Given the description of an element on the screen output the (x, y) to click on. 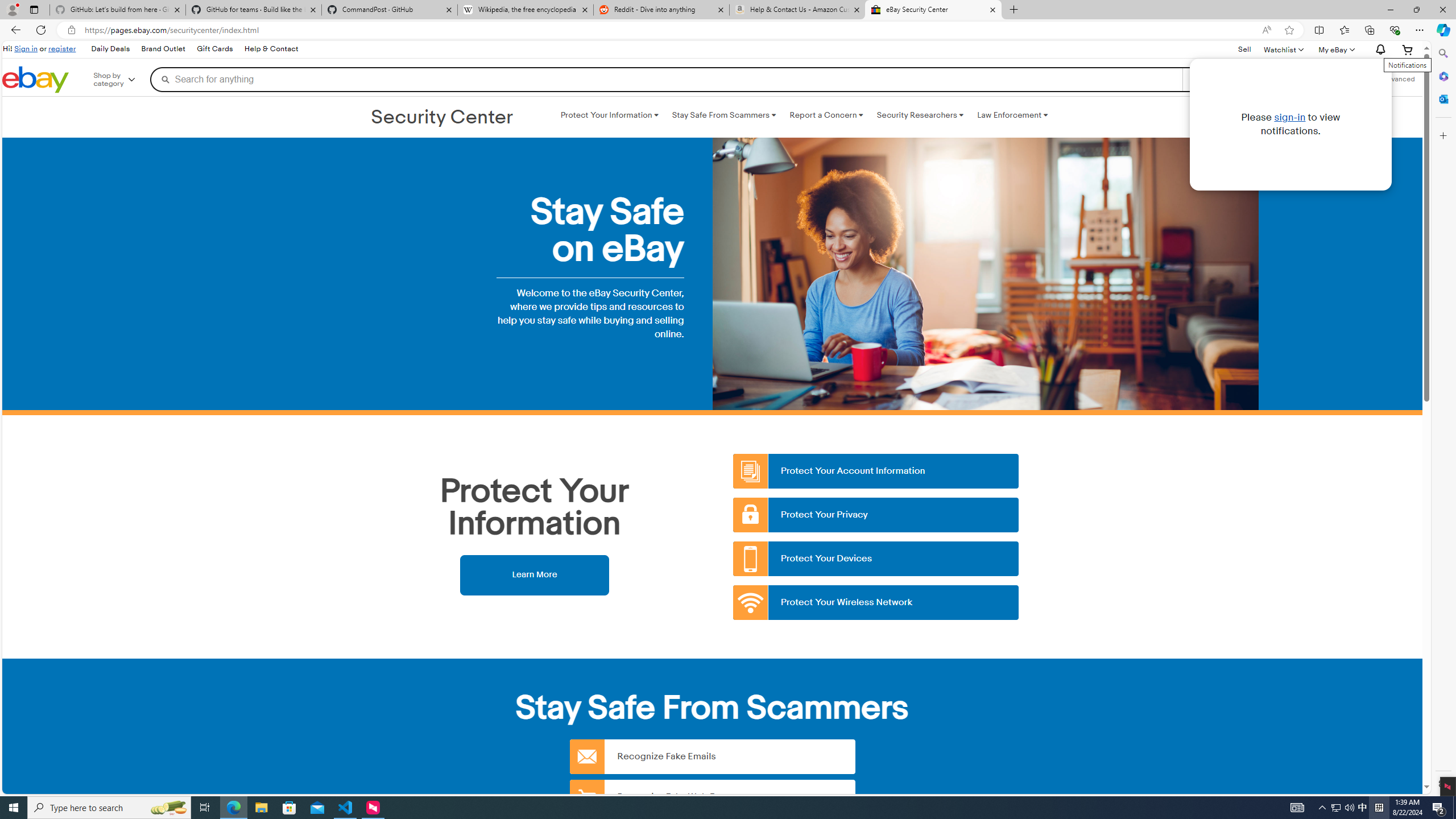
Select a category for search (1228, 78)
Daily Deals (109, 49)
Help & Contact (270, 49)
Watchlist (1282, 49)
Recognize Fake Emails (712, 756)
Protect Your Privacy (876, 514)
Shop by category (122, 79)
eBay Home (35, 79)
Please sign-in to view notifications. (1378, 49)
Side bar (1443, 418)
My eBay (1335, 49)
